Given the description of an element on the screen output the (x, y) to click on. 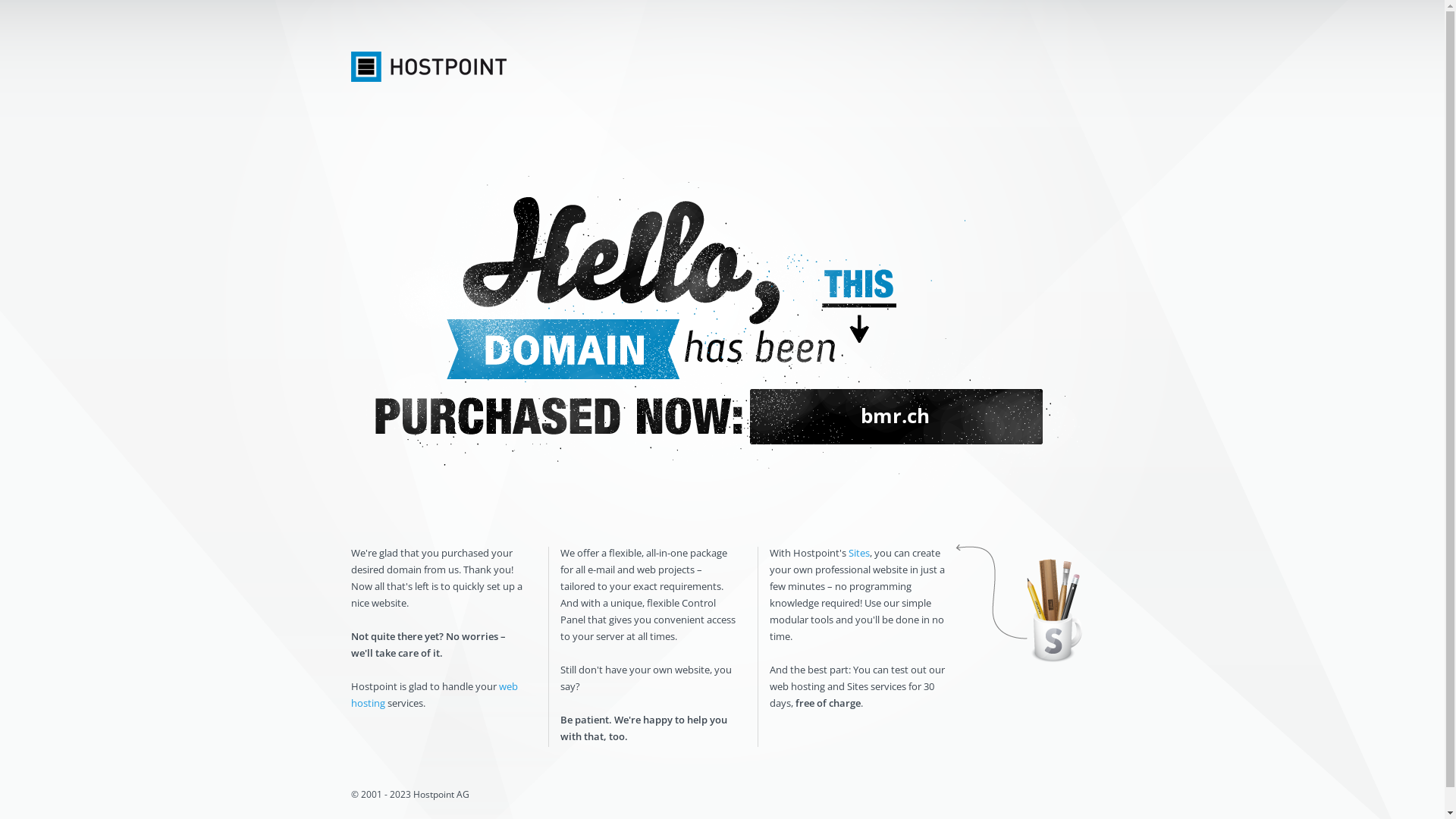
Sites Element type: text (858, 552)
web hosting Element type: text (433, 694)
